Given the description of an element on the screen output the (x, y) to click on. 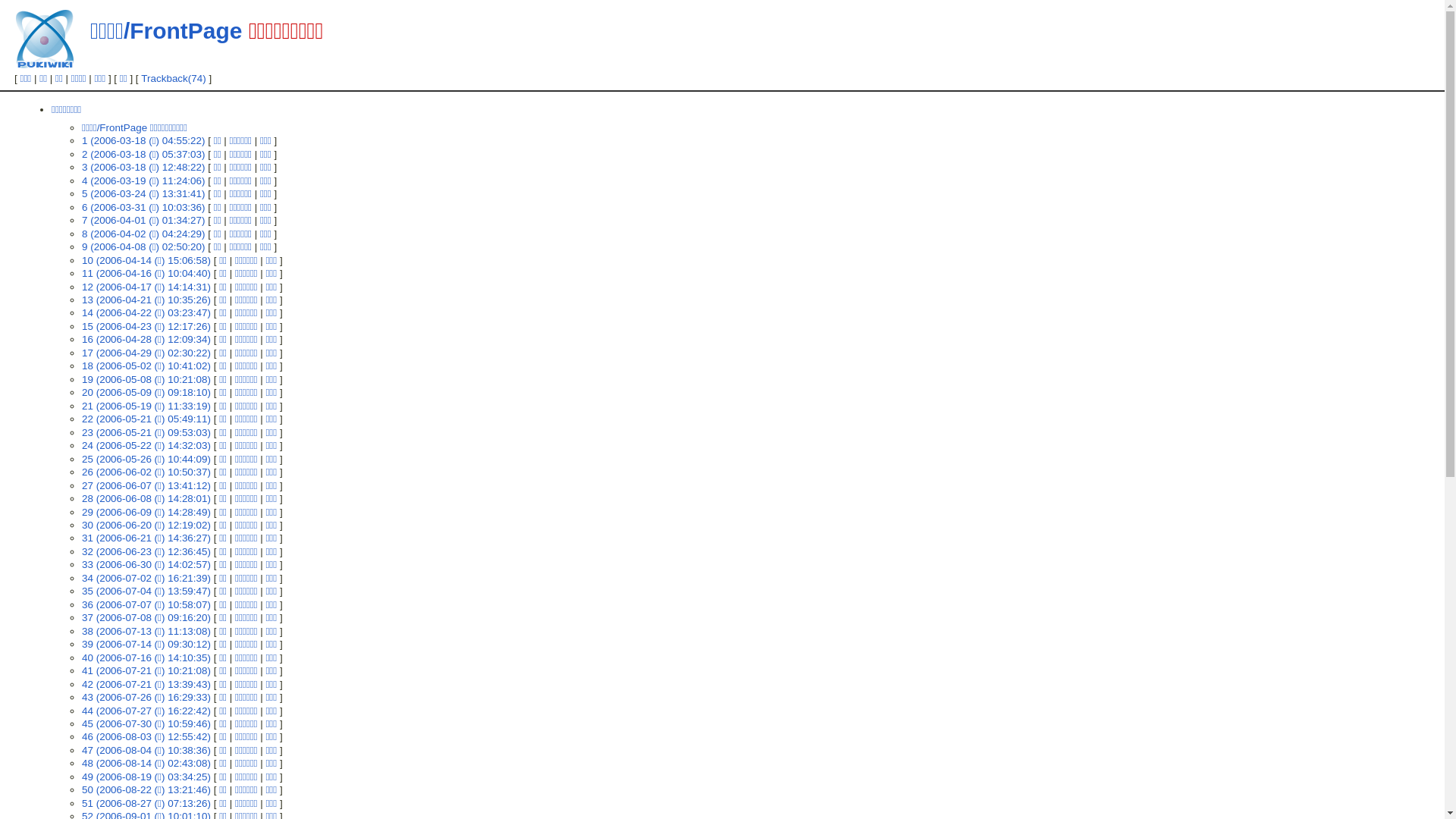
[PukiWiki] Element type: hover (44, 39)
Trackback(74) Element type: text (173, 78)
